Given the description of an element on the screen output the (x, y) to click on. 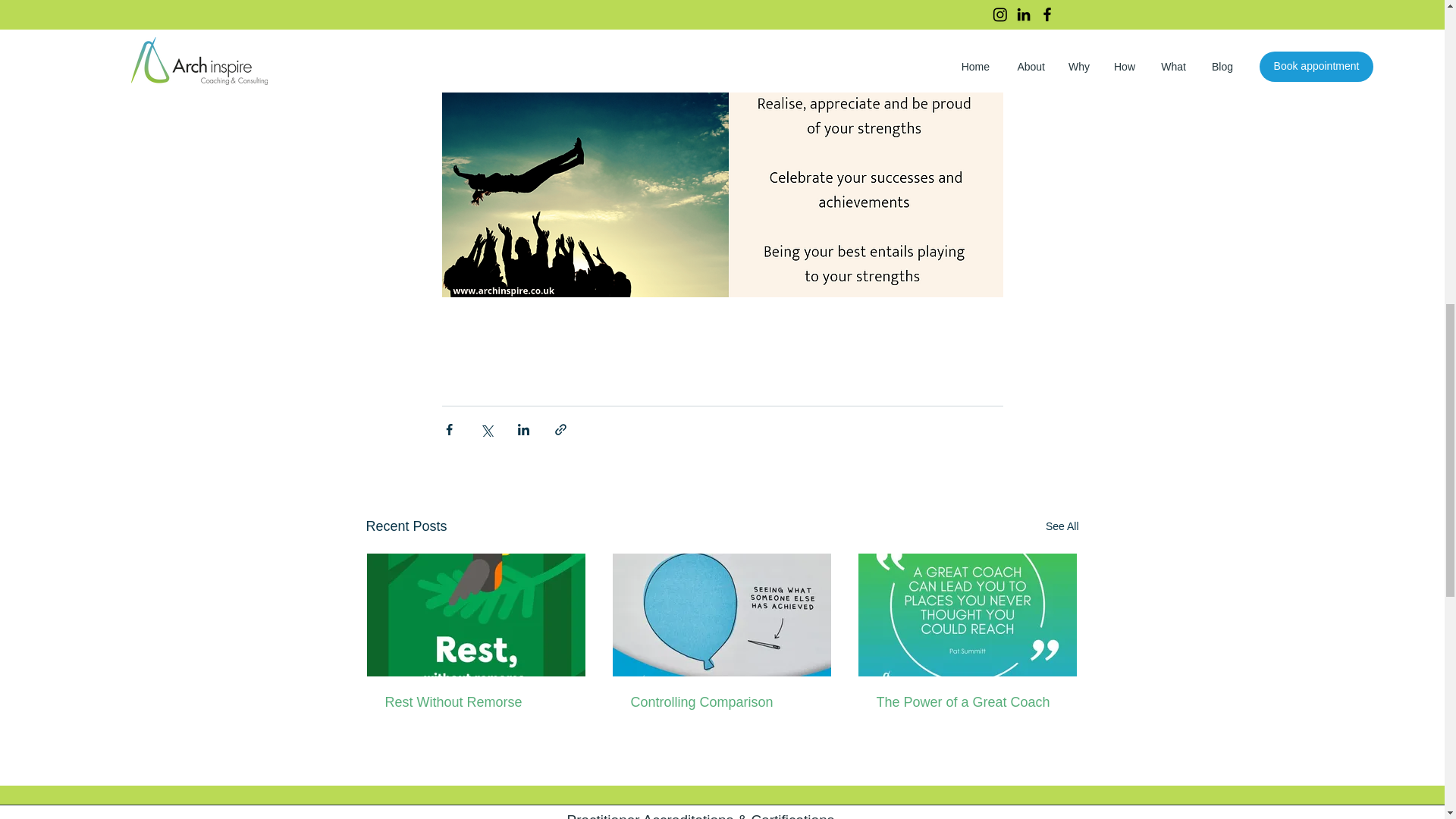
The Power of a Great Coach (967, 702)
Controlling Comparison (721, 702)
See All (1061, 526)
Rest Without Remorse (476, 702)
